Given the description of an element on the screen output the (x, y) to click on. 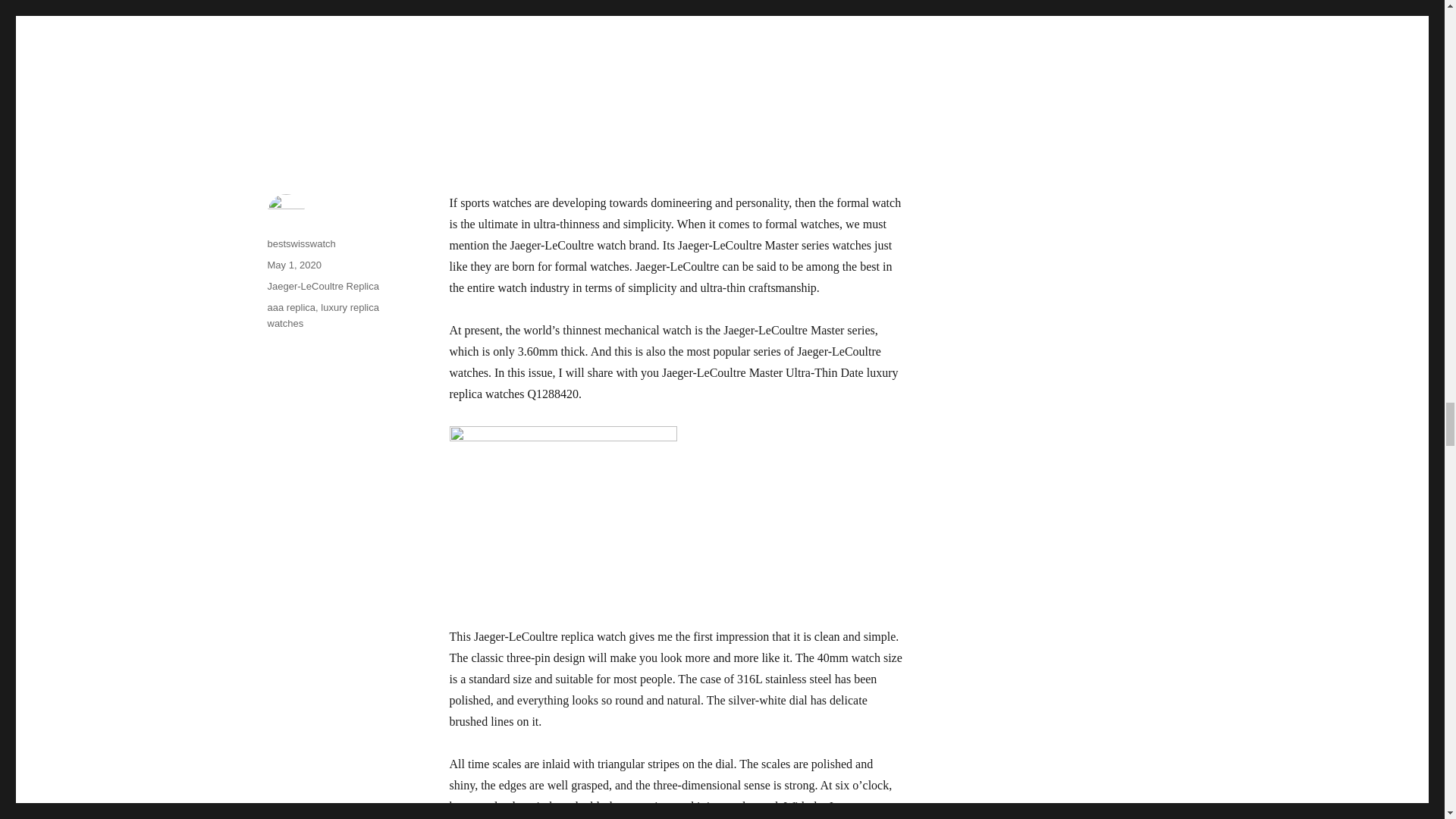
aaa replica (290, 307)
luxury replica watches (322, 315)
May 1, 2020 (293, 265)
bestswisswatch (300, 243)
Jaeger-LeCoultre Replica (322, 285)
